Given the description of an element on the screen output the (x, y) to click on. 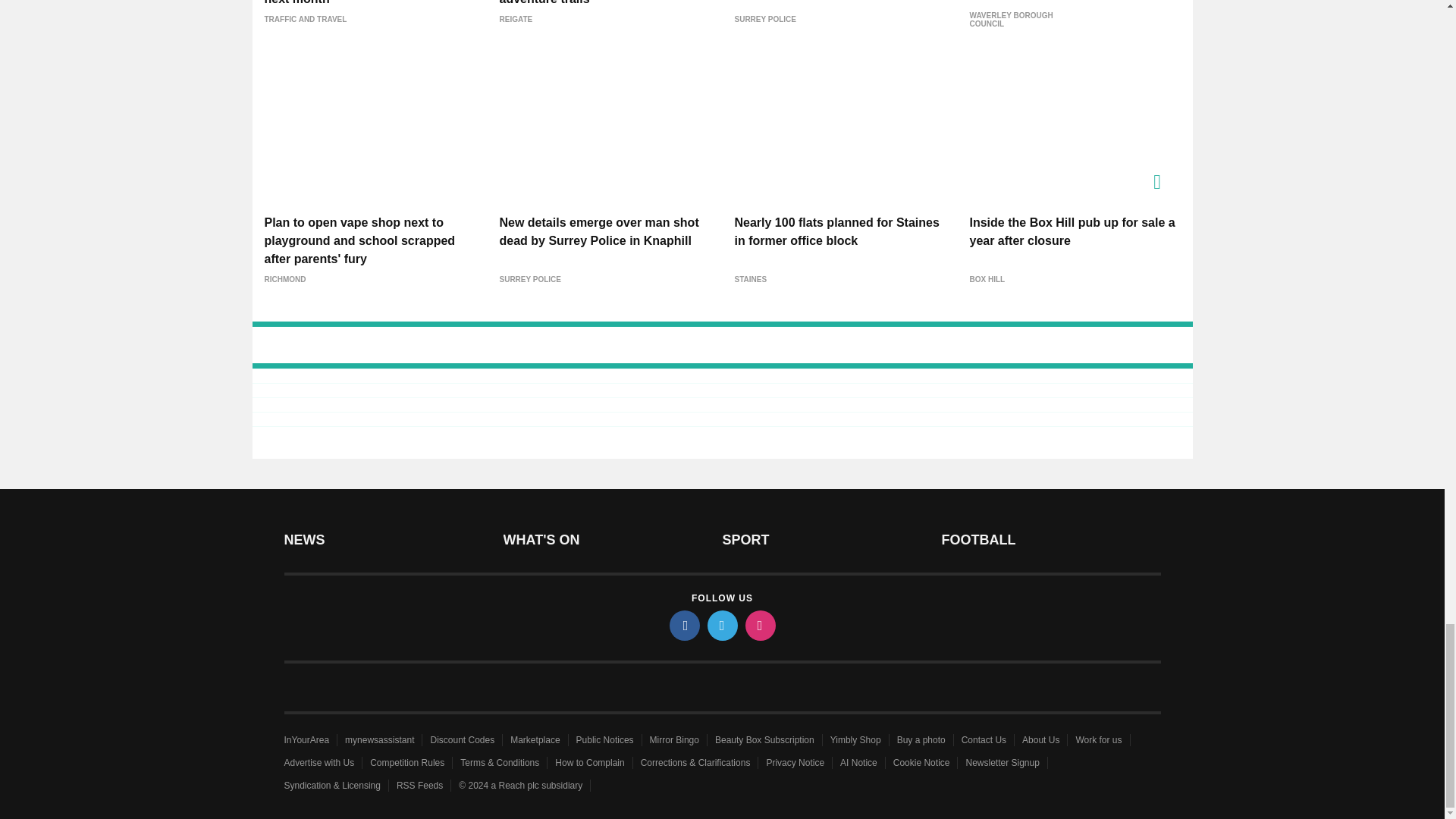
instagram (759, 625)
twitter (721, 625)
facebook (683, 625)
